Given the description of an element on the screen output the (x, y) to click on. 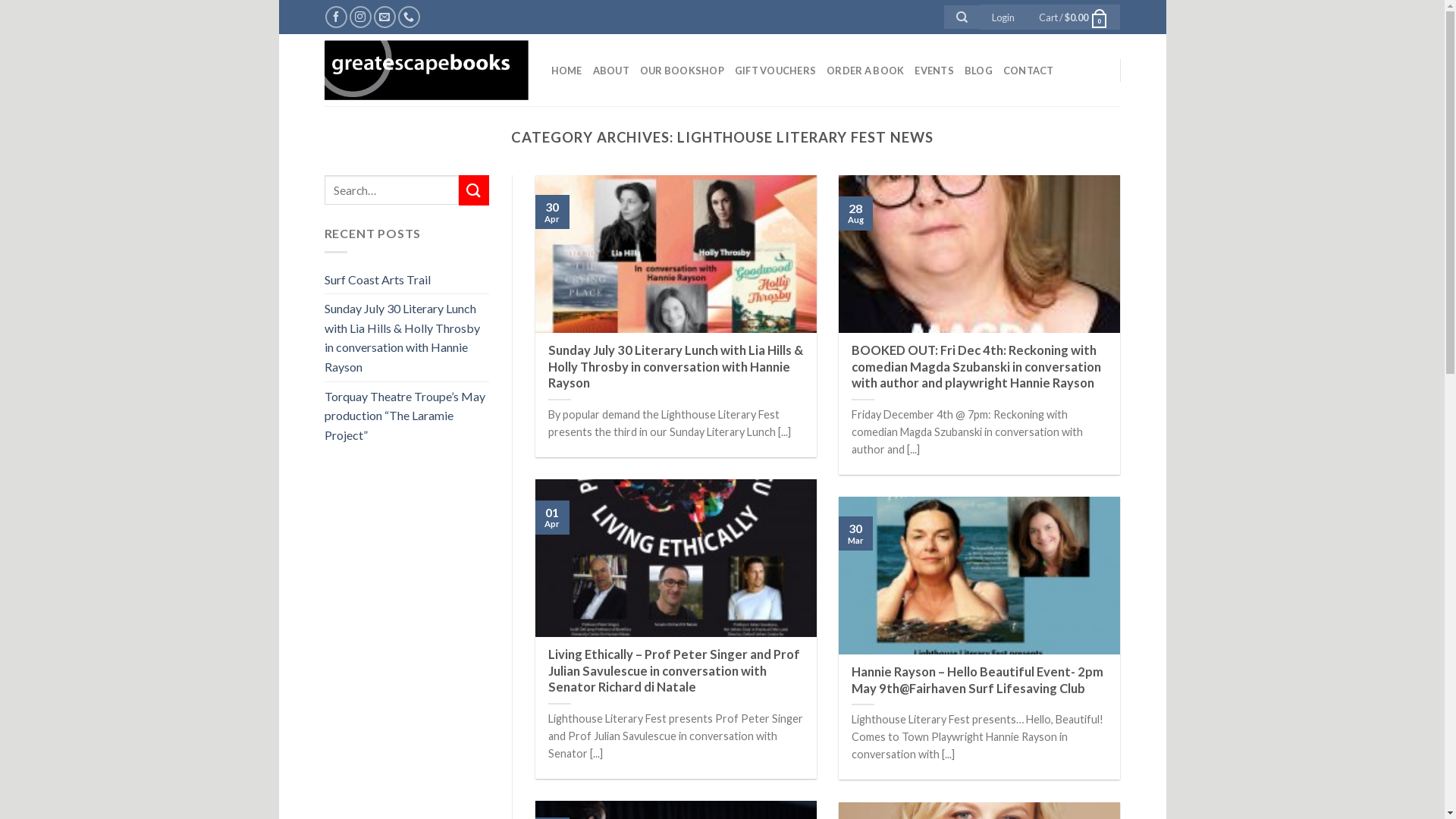
GIFT VOUCHERS Element type: text (774, 69)
Call us Element type: hover (409, 17)
HOME Element type: text (565, 69)
Send us an email Element type: hover (384, 17)
Cart / $0.00
0 Element type: text (1073, 16)
ORDER A BOOK Element type: text (864, 69)
ABOUT Element type: text (611, 69)
Login Element type: text (1002, 16)
BLOG Element type: text (978, 69)
Surf Coast Arts Trail Element type: text (377, 279)
CONTACT Element type: text (1028, 69)
Follow on Instagram Element type: hover (360, 17)
Follow on Facebook Element type: hover (336, 17)
OUR BOOKSHOP Element type: text (682, 69)
Great Escape Books - Great Ocean Road, Aireys Inlet Element type: hover (426, 70)
EVENTS Element type: text (933, 69)
